Given the description of an element on the screen output the (x, y) to click on. 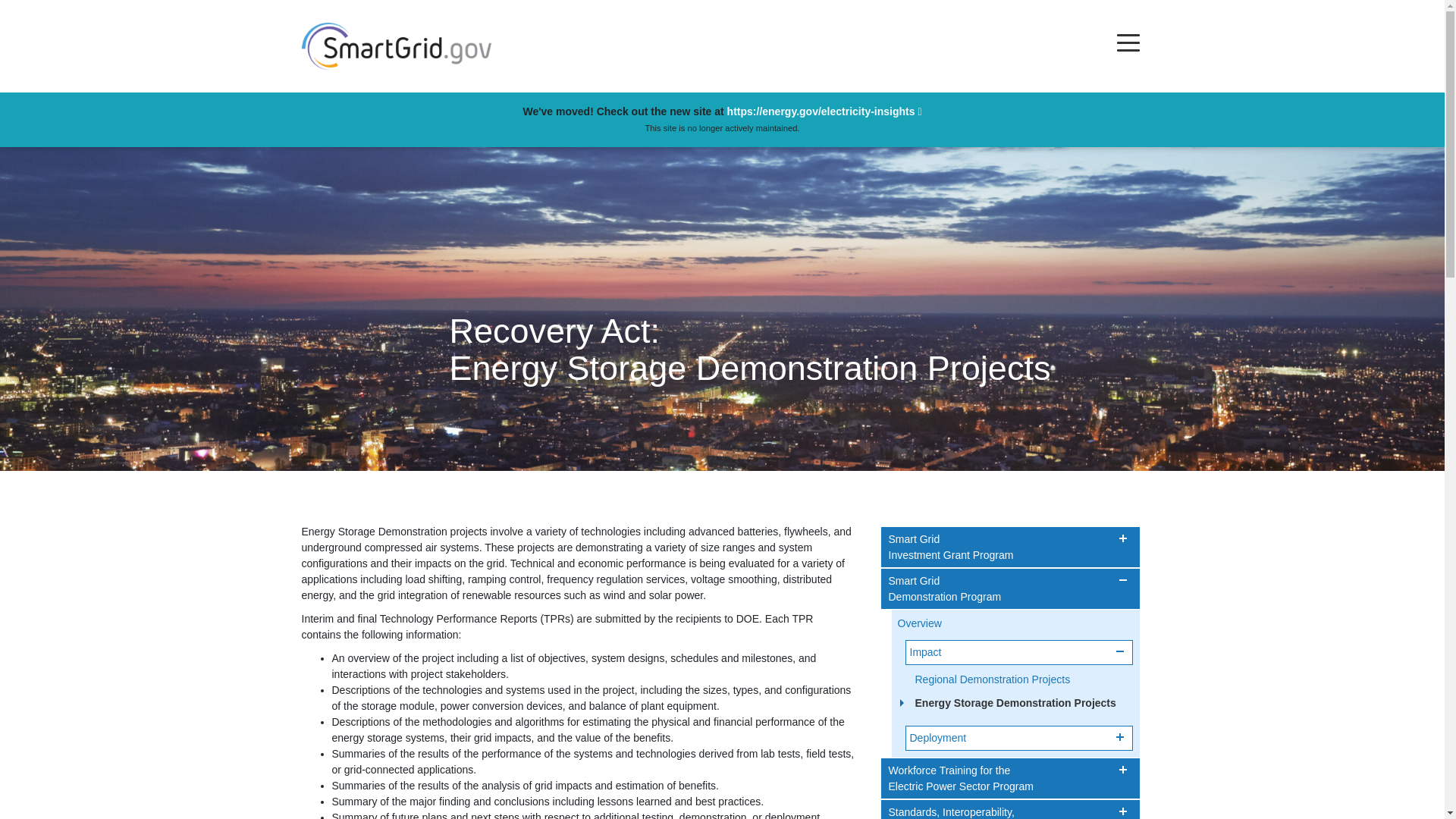
Toggle navigation (1127, 42)
